Given the description of an element on the screen output the (x, y) to click on. 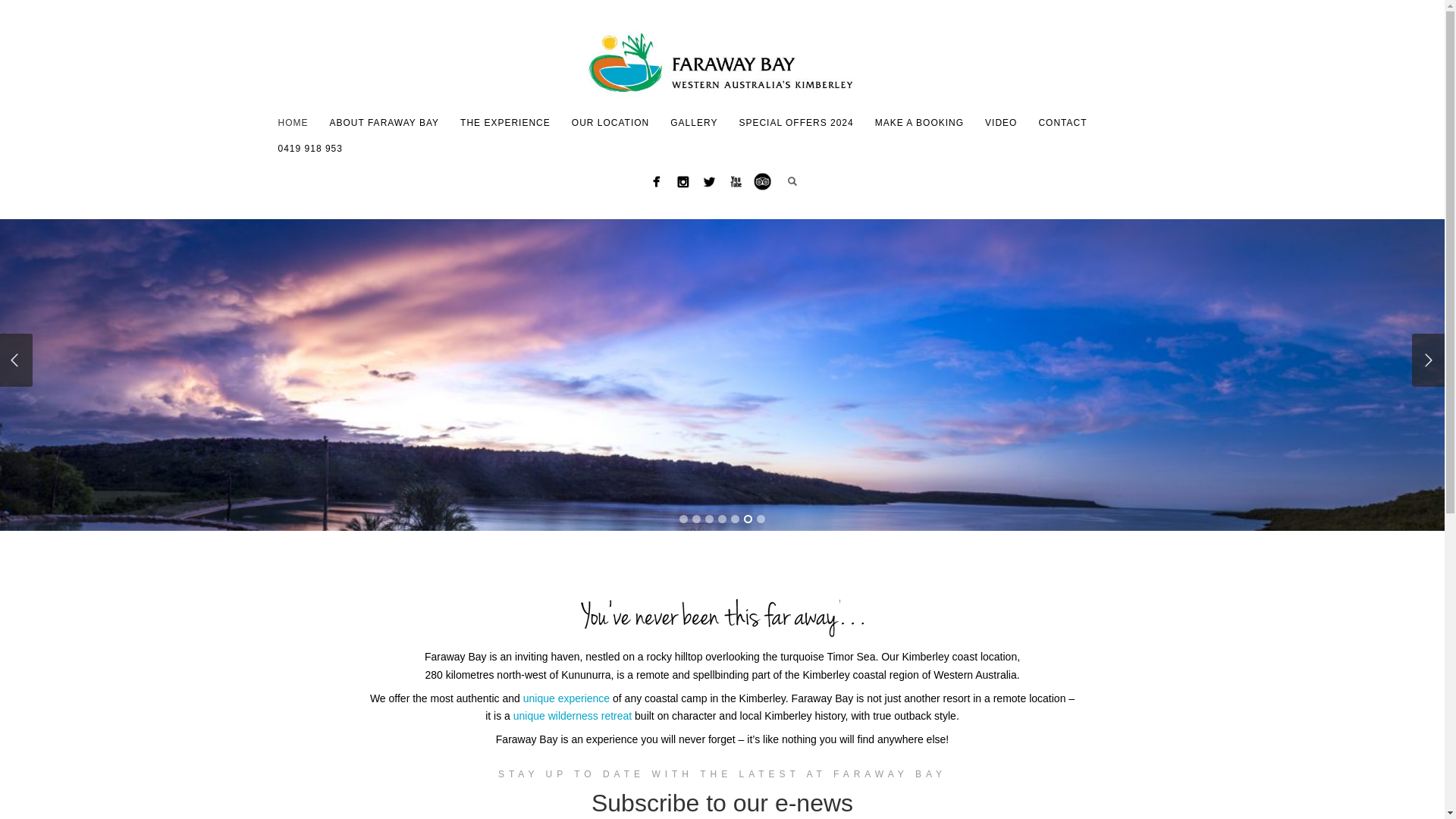
VIDEO Element type: text (1000, 122)
CONTACT Element type: text (1062, 122)
unique wilderness retreat Element type: text (572, 715)
HOME Element type: text (292, 122)
Instagram Element type: hover (682, 181)
Facebook Element type: hover (655, 181)
THE EXPERIENCE Element type: text (505, 122)
Youtube Element type: hover (735, 181)
0419 918 953 Element type: text (309, 148)
OUR LOCATION Element type: text (610, 122)
Search Element type: text (792, 181)
Twitter Element type: hover (708, 181)
Kimberley coast location Element type: text (958, 656)
unique experience Element type: text (566, 698)
Tripadvisor Element type: hover (762, 181)
ABOUT FARAWAY BAY Element type: text (383, 122)
SPECIAL OFFERS 2024 Element type: text (795, 122)
GALLERY Element type: text (693, 122)
MAKE A BOOKING Element type: text (919, 122)
